Given the description of an element on the screen output the (x, y) to click on. 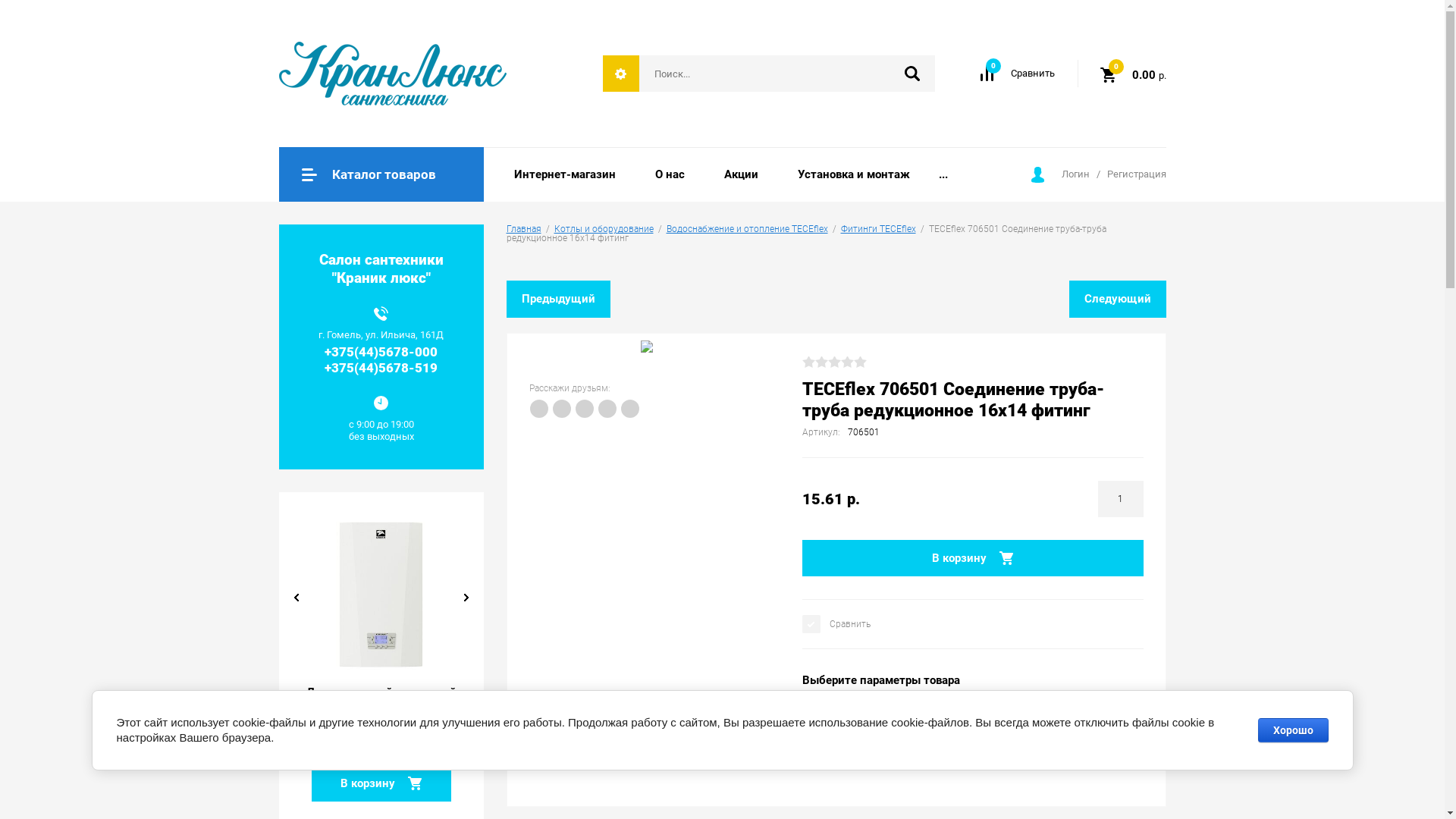
Next Element type: text (465, 597)
Previous Element type: text (296, 597)
... Element type: text (943, 174)
